Given the description of an element on the screen output the (x, y) to click on. 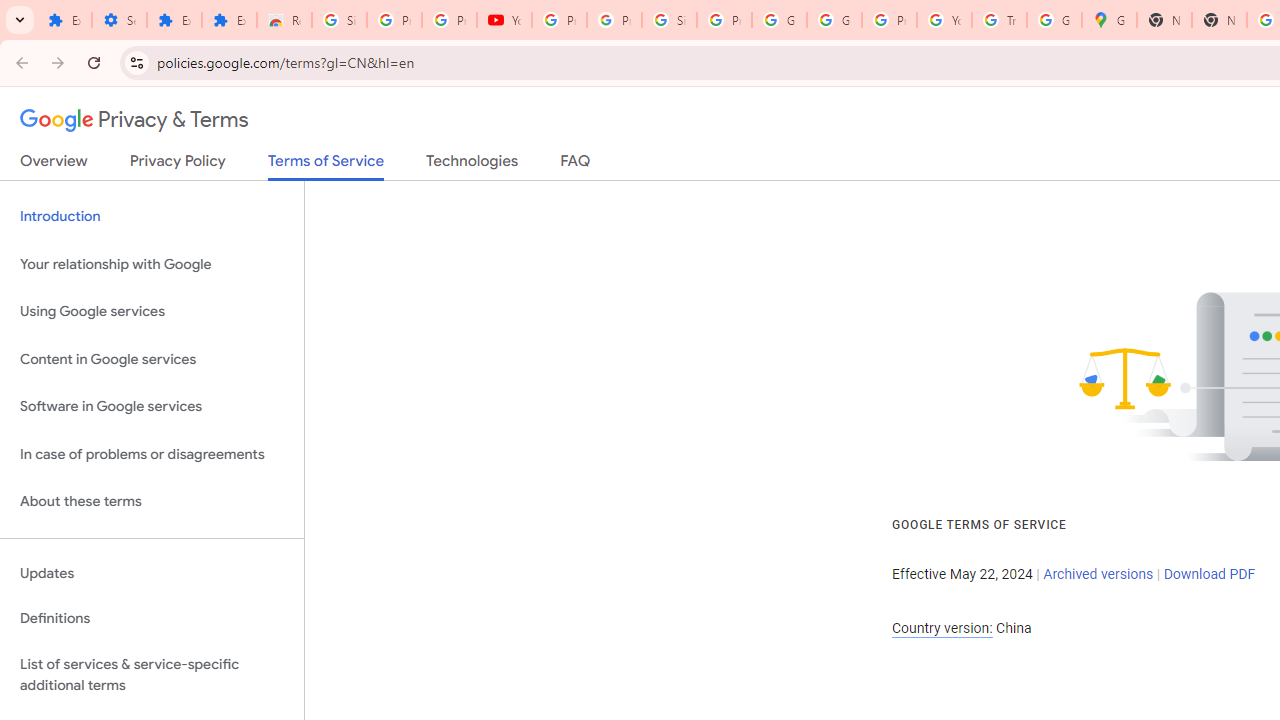
Extensions (64, 20)
Sign in - Google Accounts (669, 20)
Settings (119, 20)
New Tab (1163, 20)
Software in Google services (152, 407)
Your relationship with Google (152, 263)
